Given the description of an element on the screen output the (x, y) to click on. 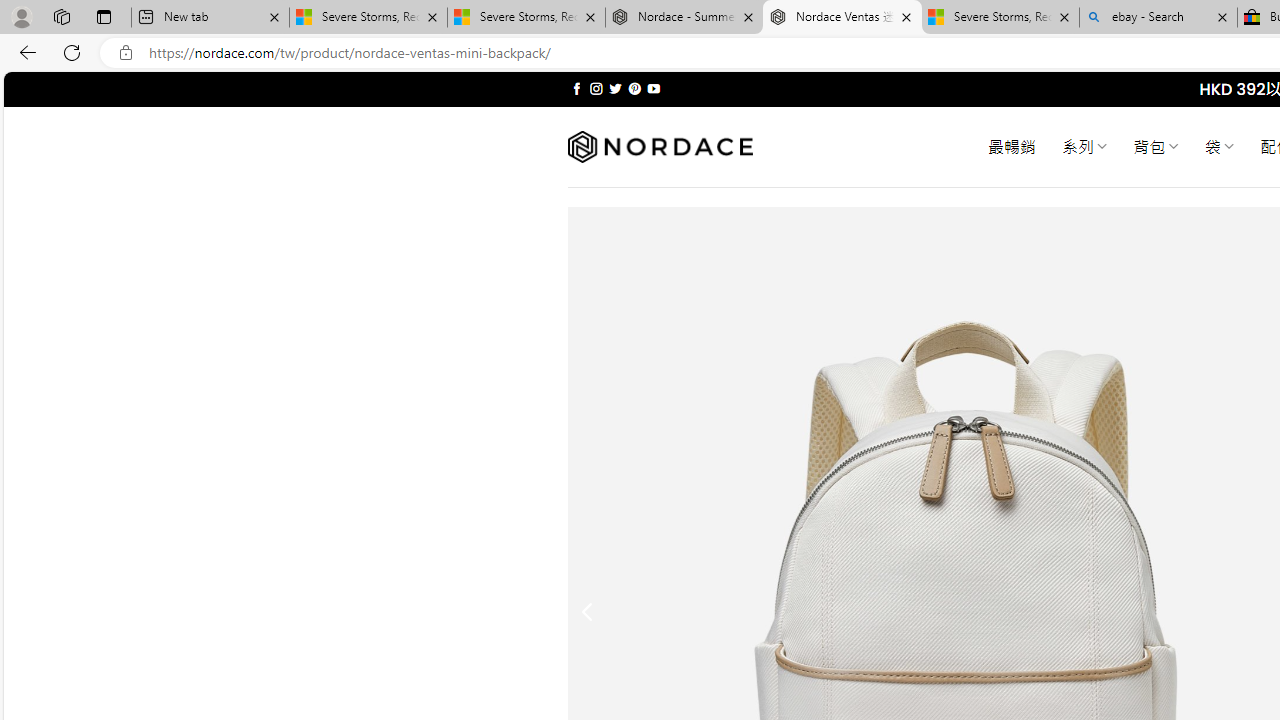
Follow on Instagram (596, 88)
Follow on Pinterest (634, 88)
